Given the description of an element on the screen output the (x, y) to click on. 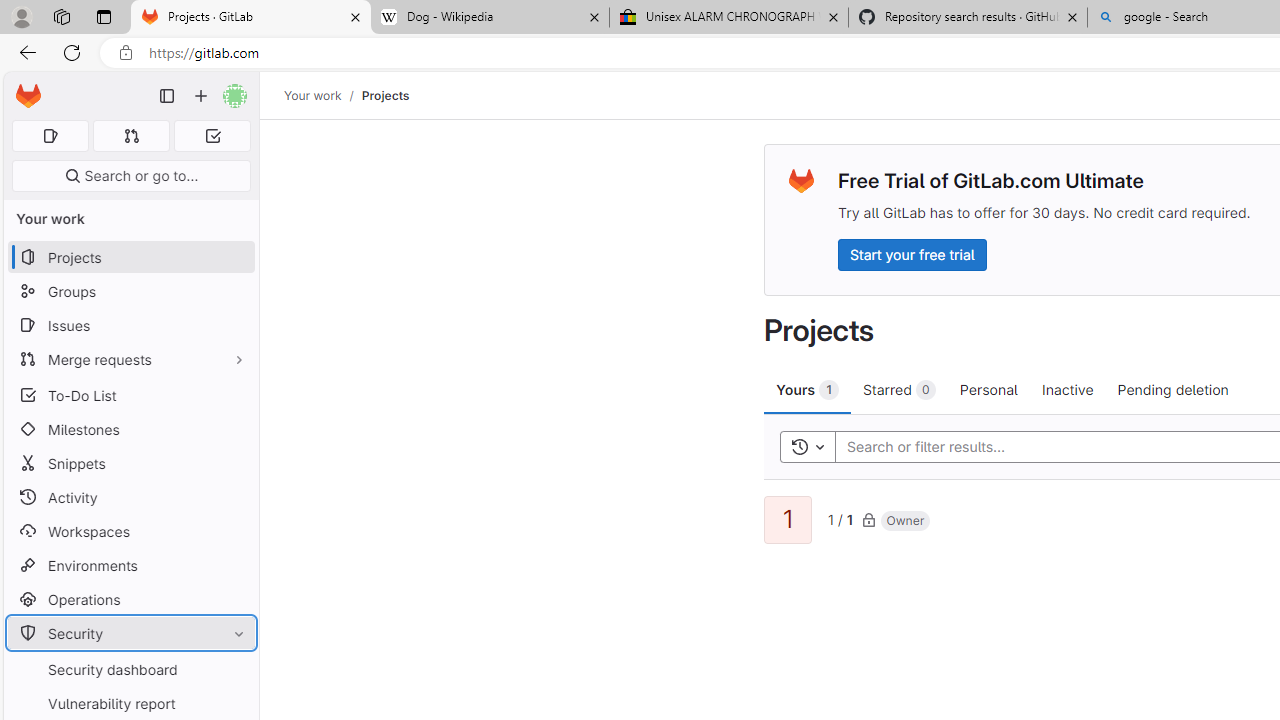
Groups (130, 291)
Start your free trial (912, 254)
Snippets (130, 463)
Create new... (201, 96)
1 / 1 (840, 518)
Projects (384, 95)
Dog - Wikipedia (490, 17)
Vulnerability report (130, 703)
Assigned issues 0 (50, 136)
To-Do List (130, 394)
Class: s16 (868, 519)
